Given the description of an element on the screen output the (x, y) to click on. 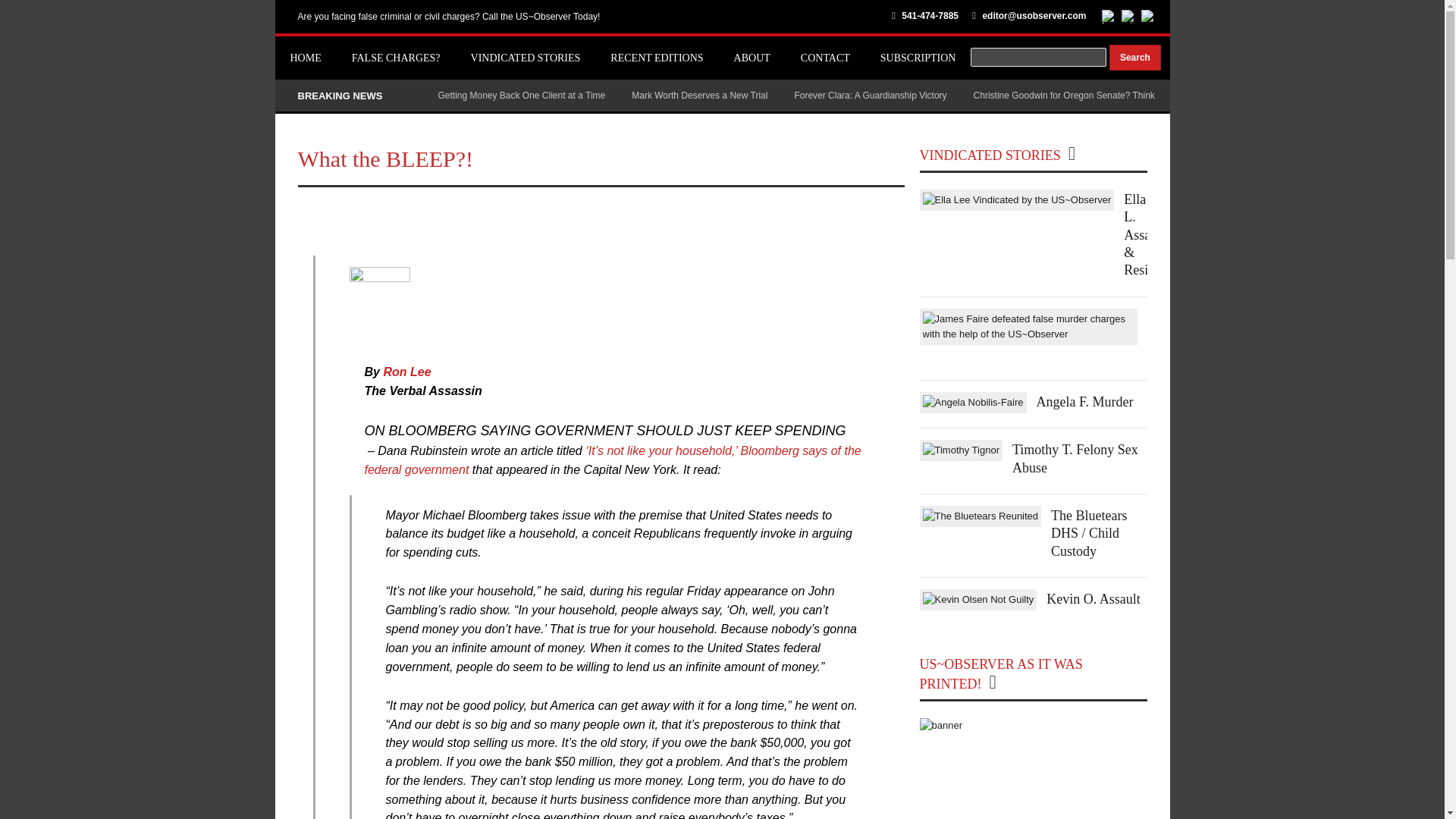
Search (1134, 57)
Search (1134, 57)
HOME (305, 57)
SUBSCRIPTION (917, 57)
Getting Money Back One Client at a Time (521, 95)
What the BLEEP?! (385, 158)
Ron Lee (406, 371)
